Given the description of an element on the screen output the (x, y) to click on. 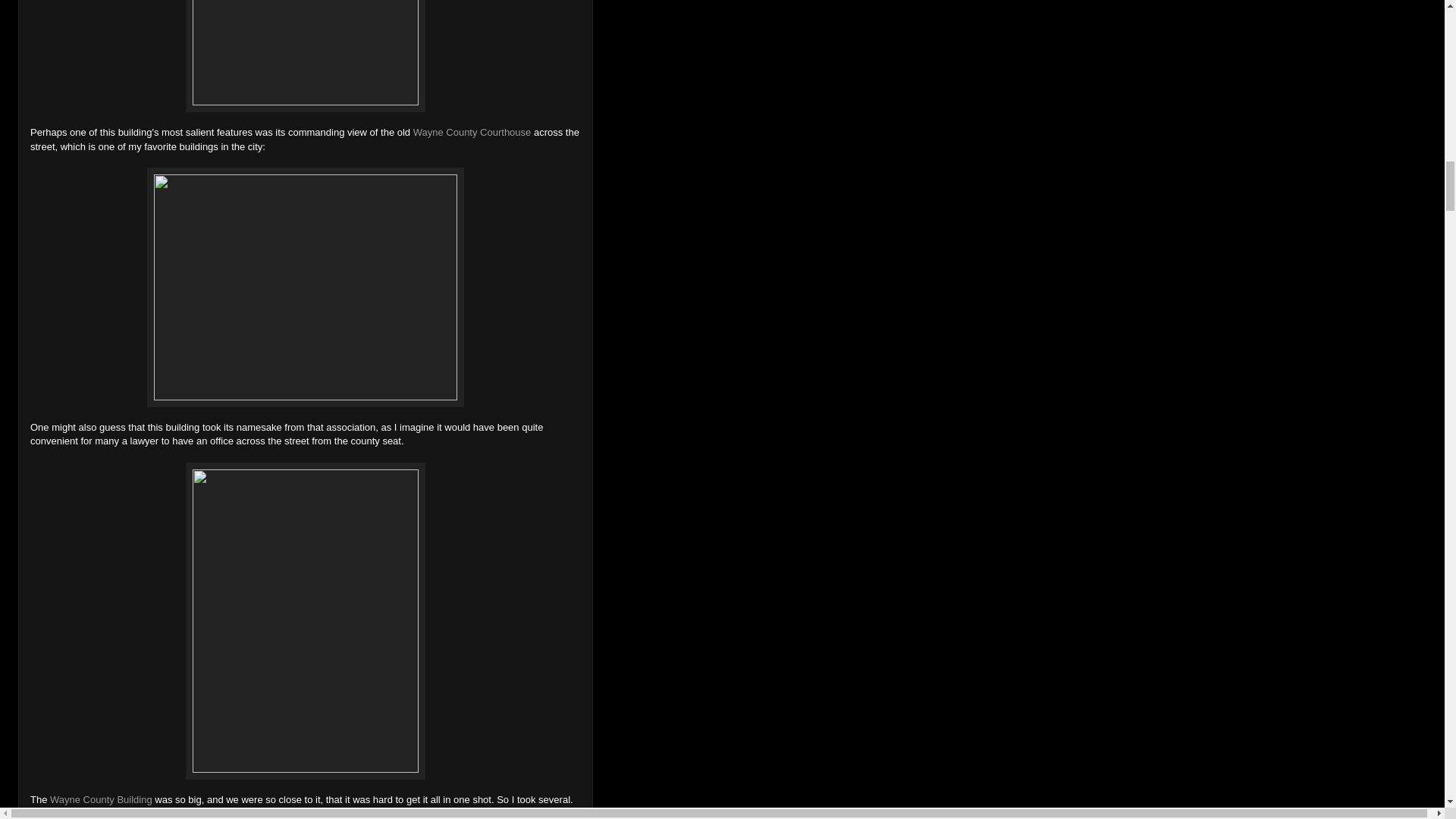
Wayne County Courthouse (472, 132)
Wayne County Building (100, 799)
